Given the description of an element on the screen output the (x, y) to click on. 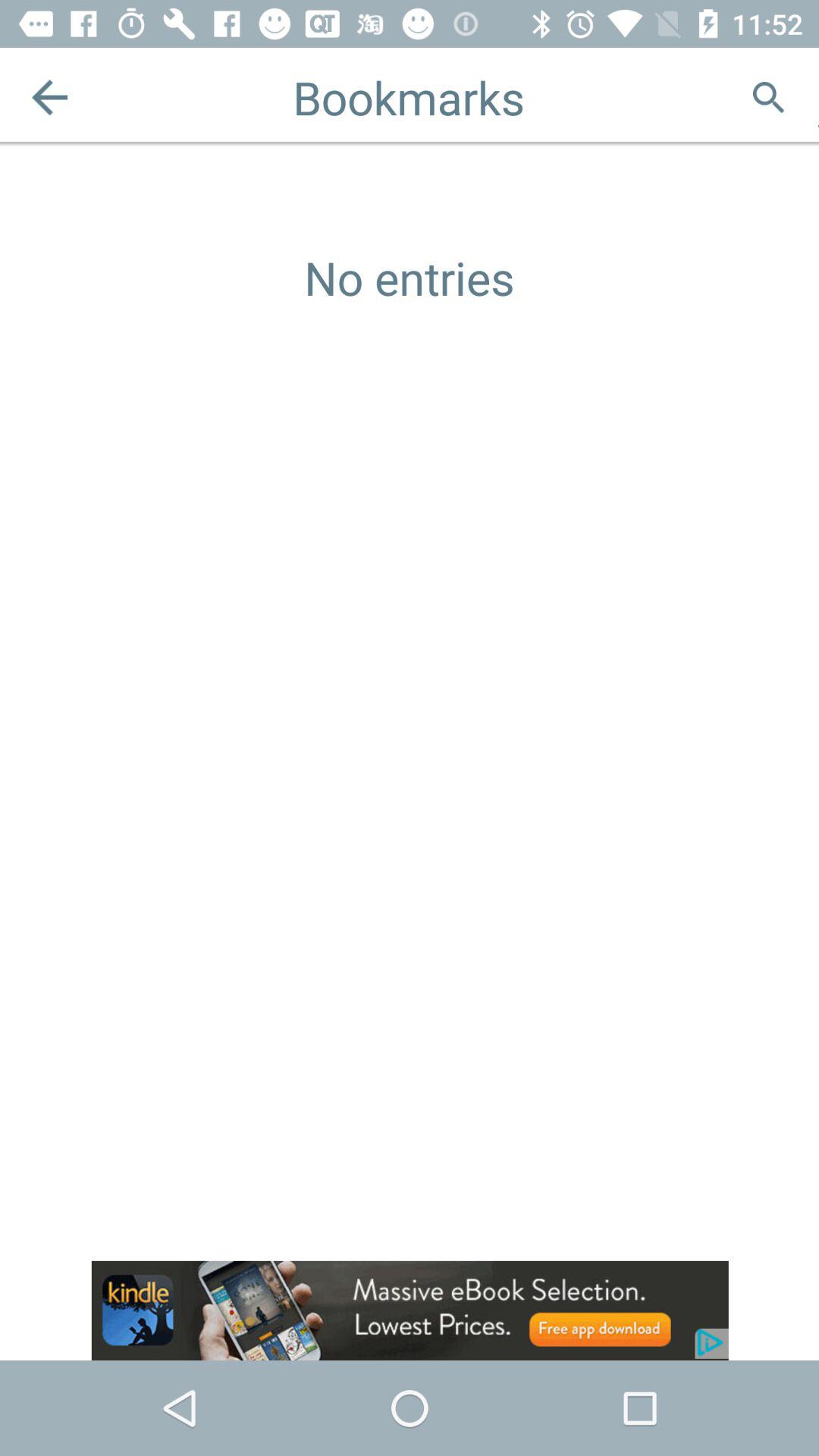
go back (49, 97)
